Given the description of an element on the screen output the (x, y) to click on. 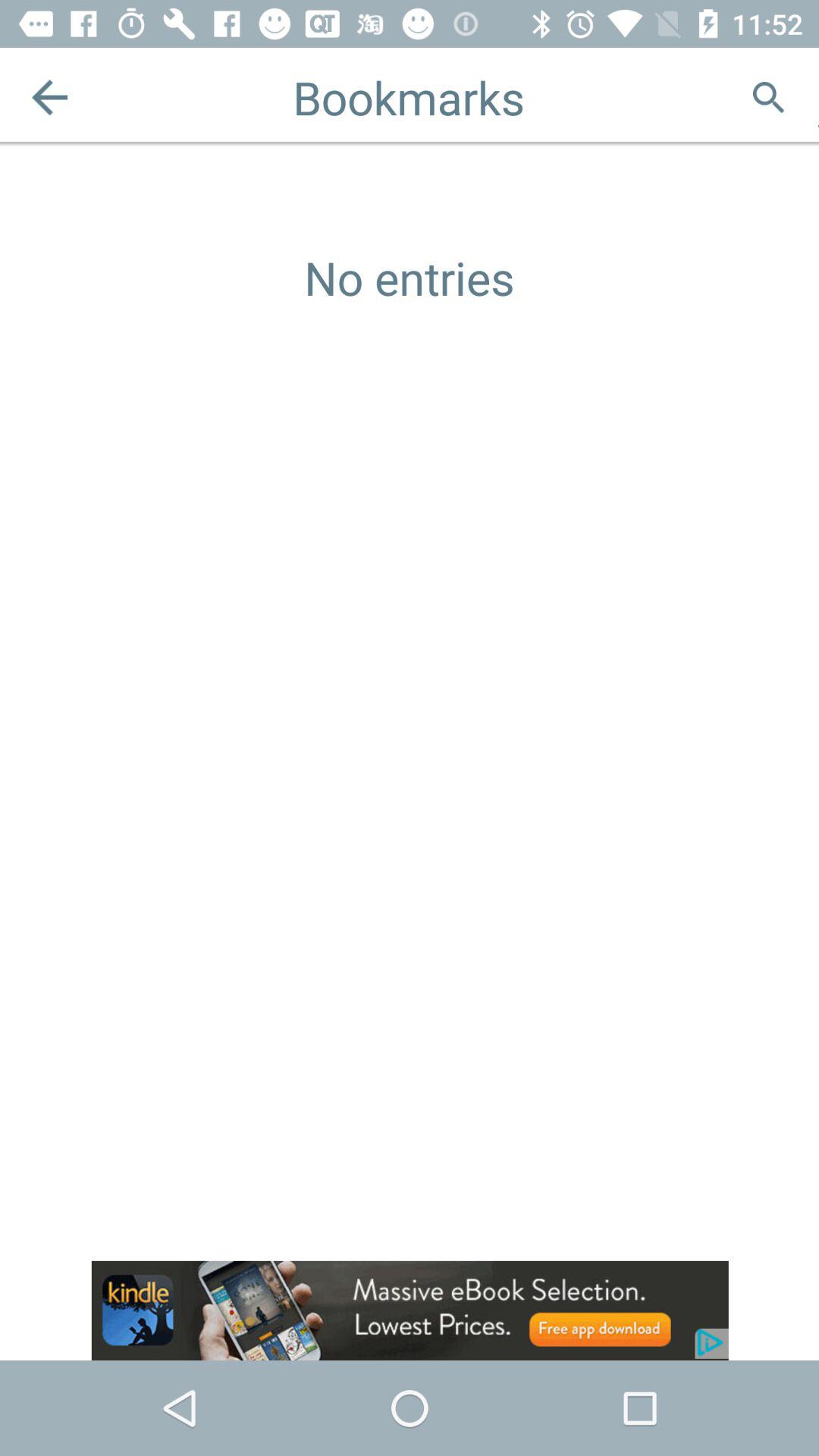
go back (49, 97)
